Given the description of an element on the screen output the (x, y) to click on. 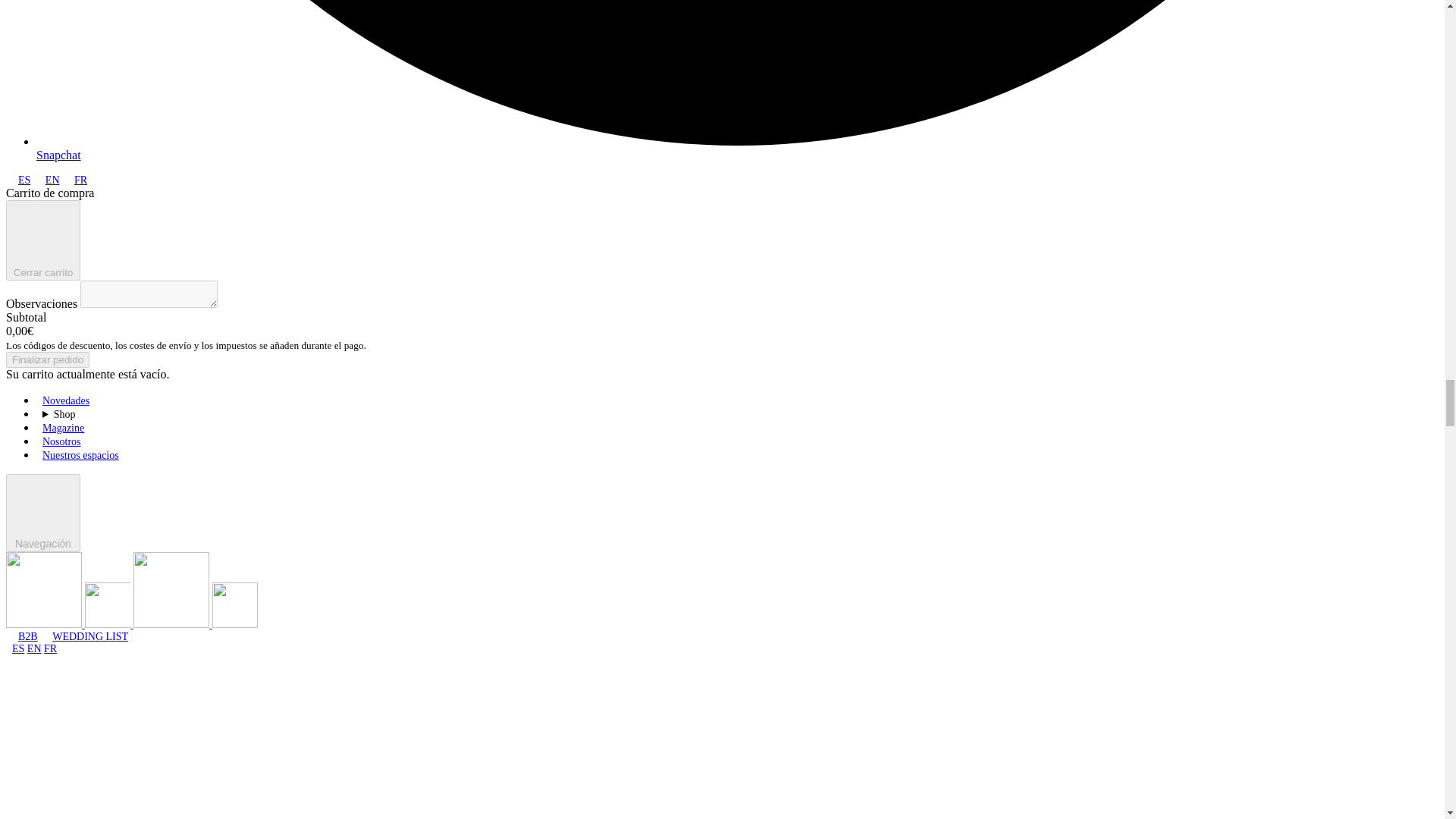
icon-X (42, 233)
icon-hamburger (42, 505)
